Given the description of an element on the screen output the (x, y) to click on. 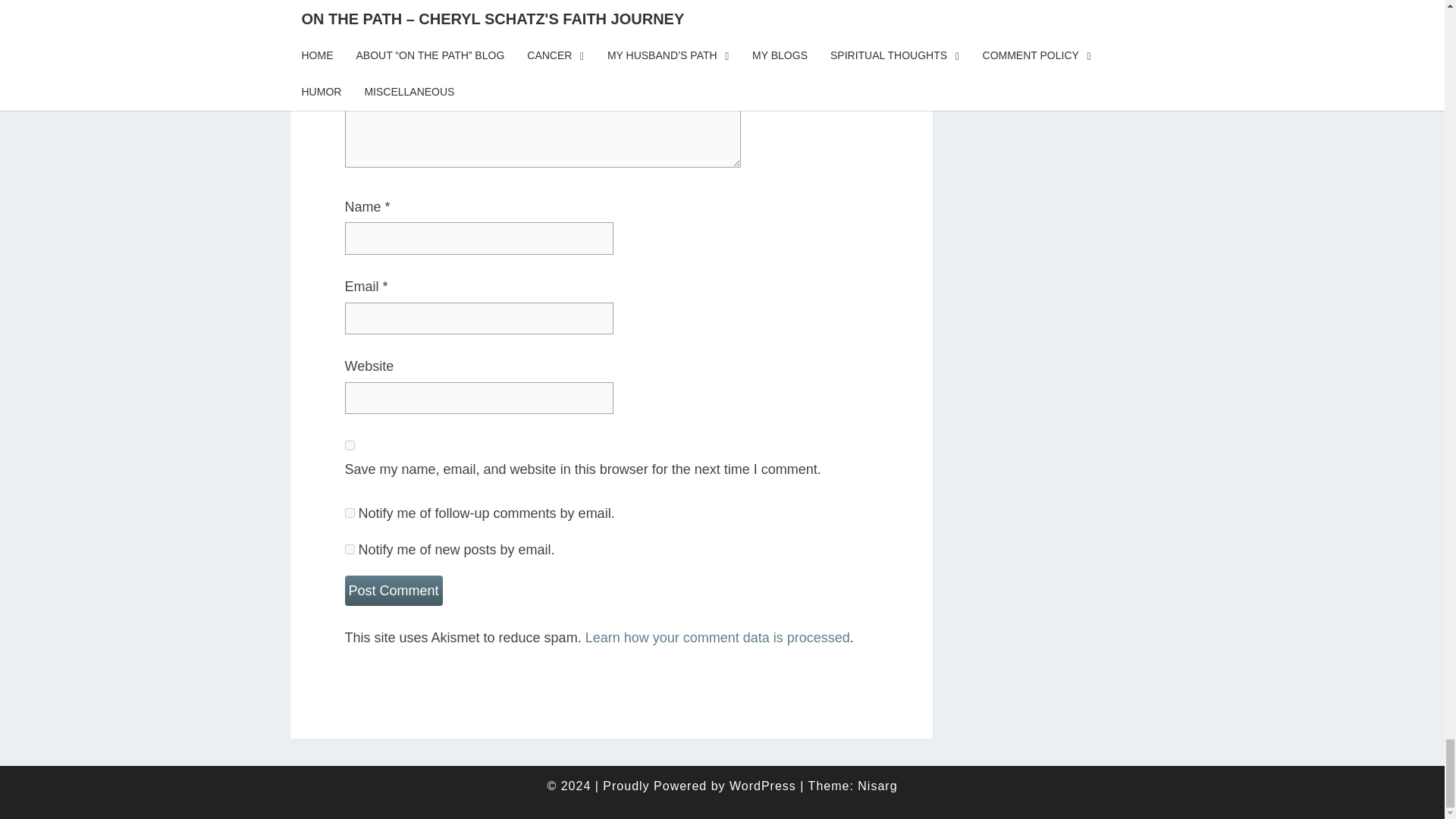
yes (348, 445)
Post Comment (392, 590)
subscribe (348, 512)
subscribe (348, 549)
